Given the description of an element on the screen output the (x, y) to click on. 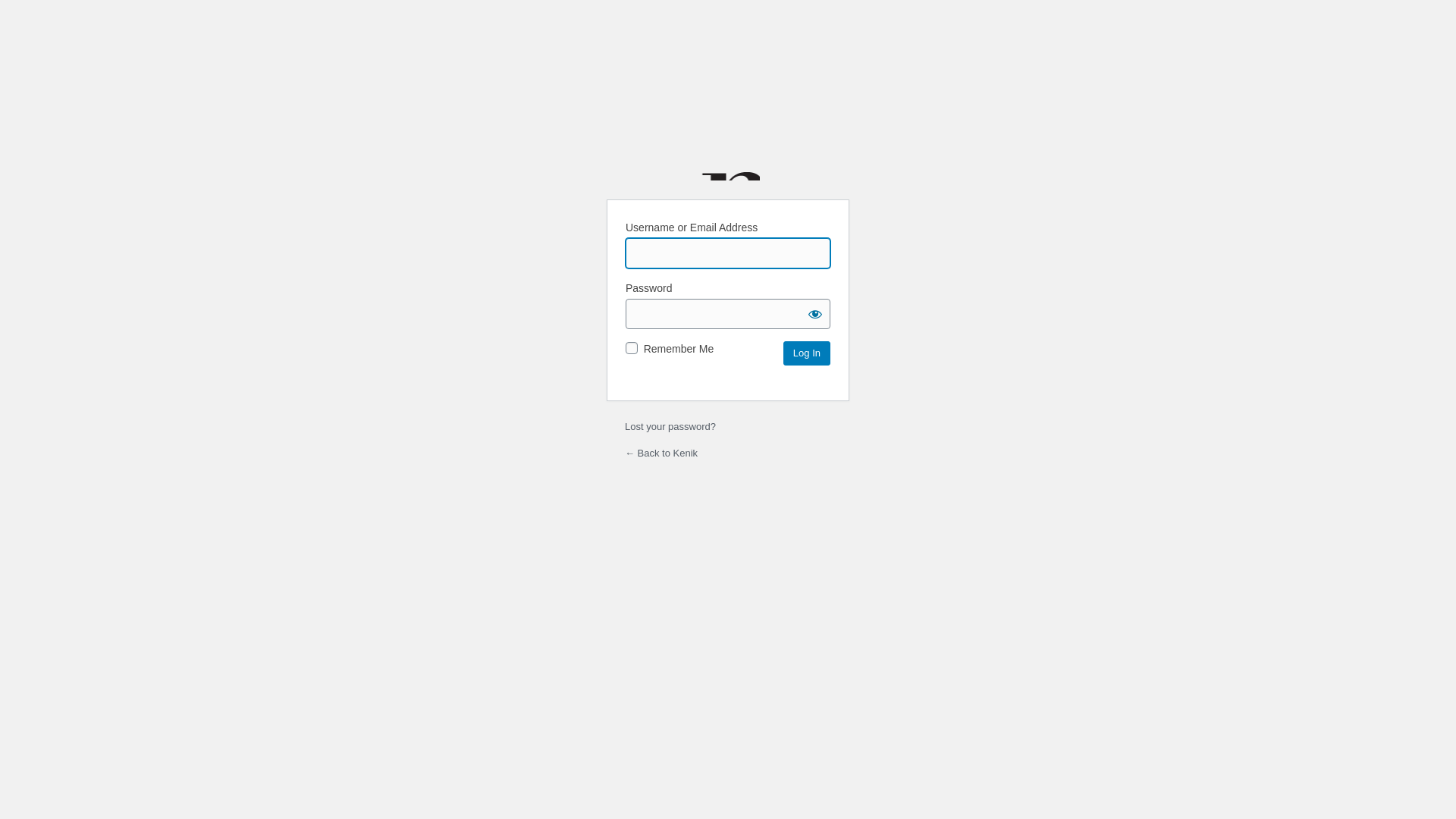
Powered by WordPress Element type: text (727, 148)
Log In Element type: text (806, 353)
Lost your password? Element type: text (669, 426)
